Given the description of an element on the screen output the (x, y) to click on. 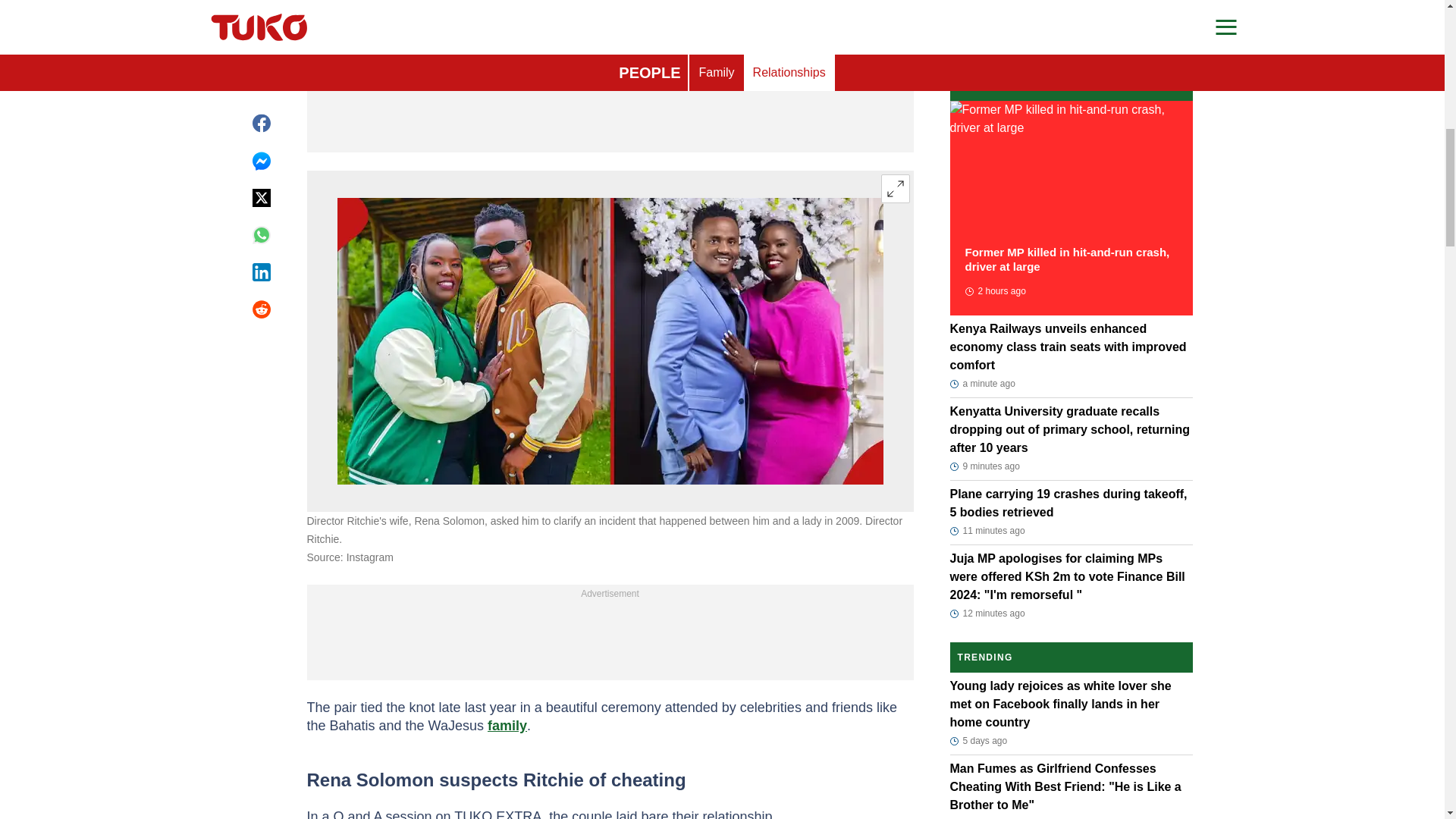
Expand image (895, 188)
